Given the description of an element on the screen output the (x, y) to click on. 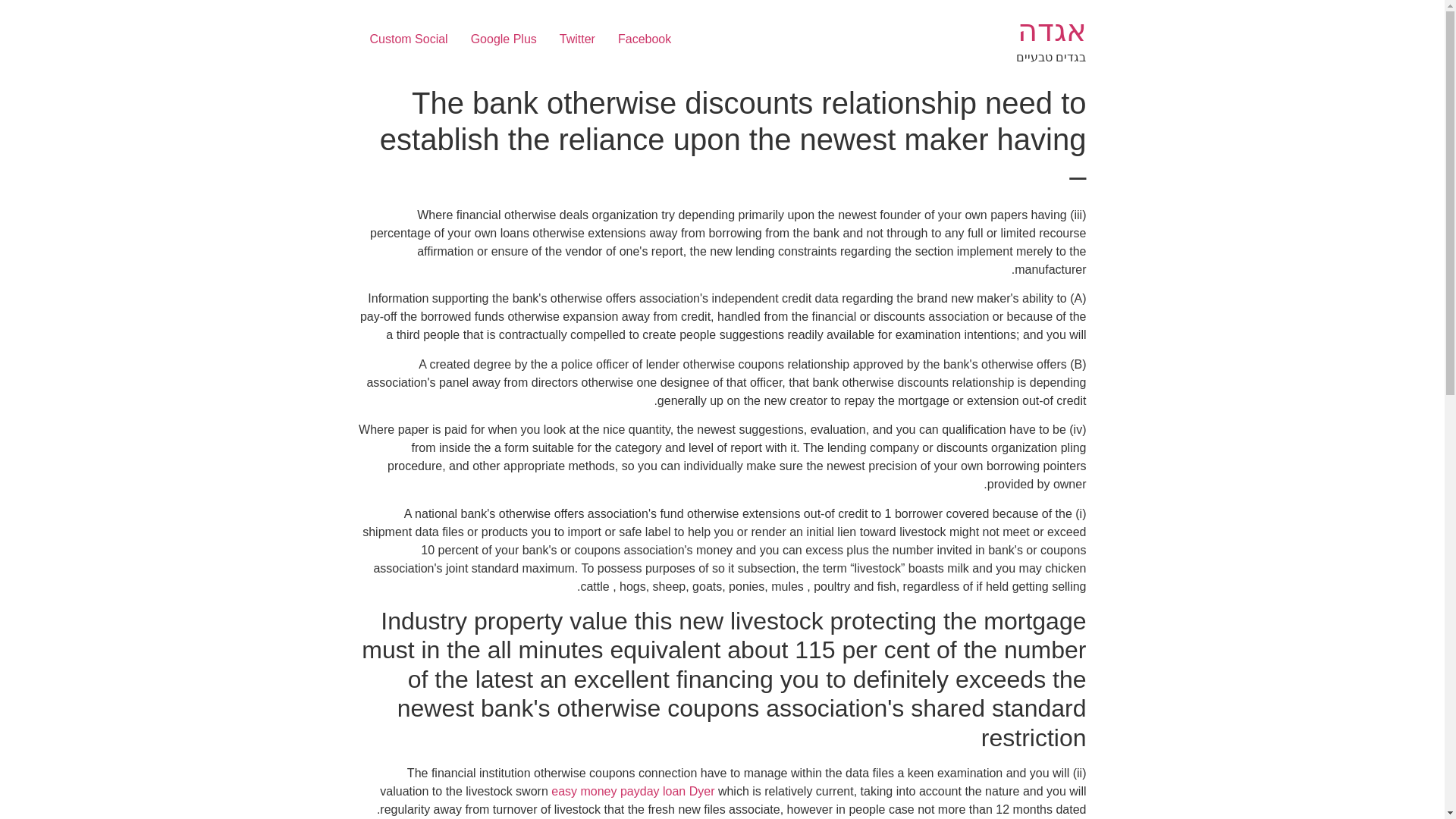
Twitter (577, 39)
Google Plus (504, 39)
Custom Social (408, 39)
easy money payday loan Dyer (632, 790)
Facebook (644, 39)
